Given the description of an element on the screen output the (x, y) to click on. 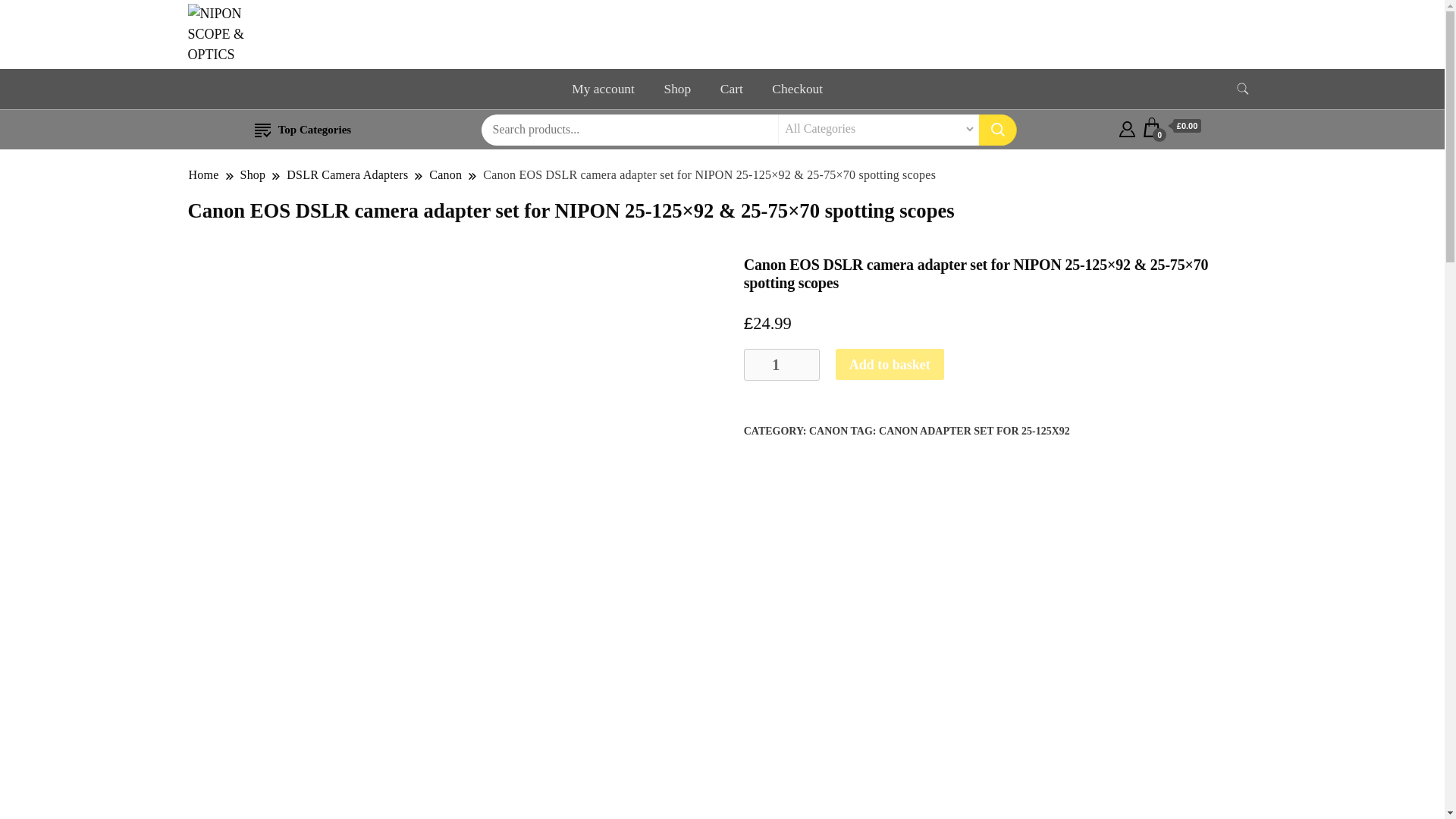
1 (781, 364)
Shop (676, 88)
Top Categories (303, 129)
Cart (1171, 126)
My account (603, 88)
Cart (731, 88)
Checkout (796, 88)
My Account (1127, 126)
